Given the description of an element on the screen output the (x, y) to click on. 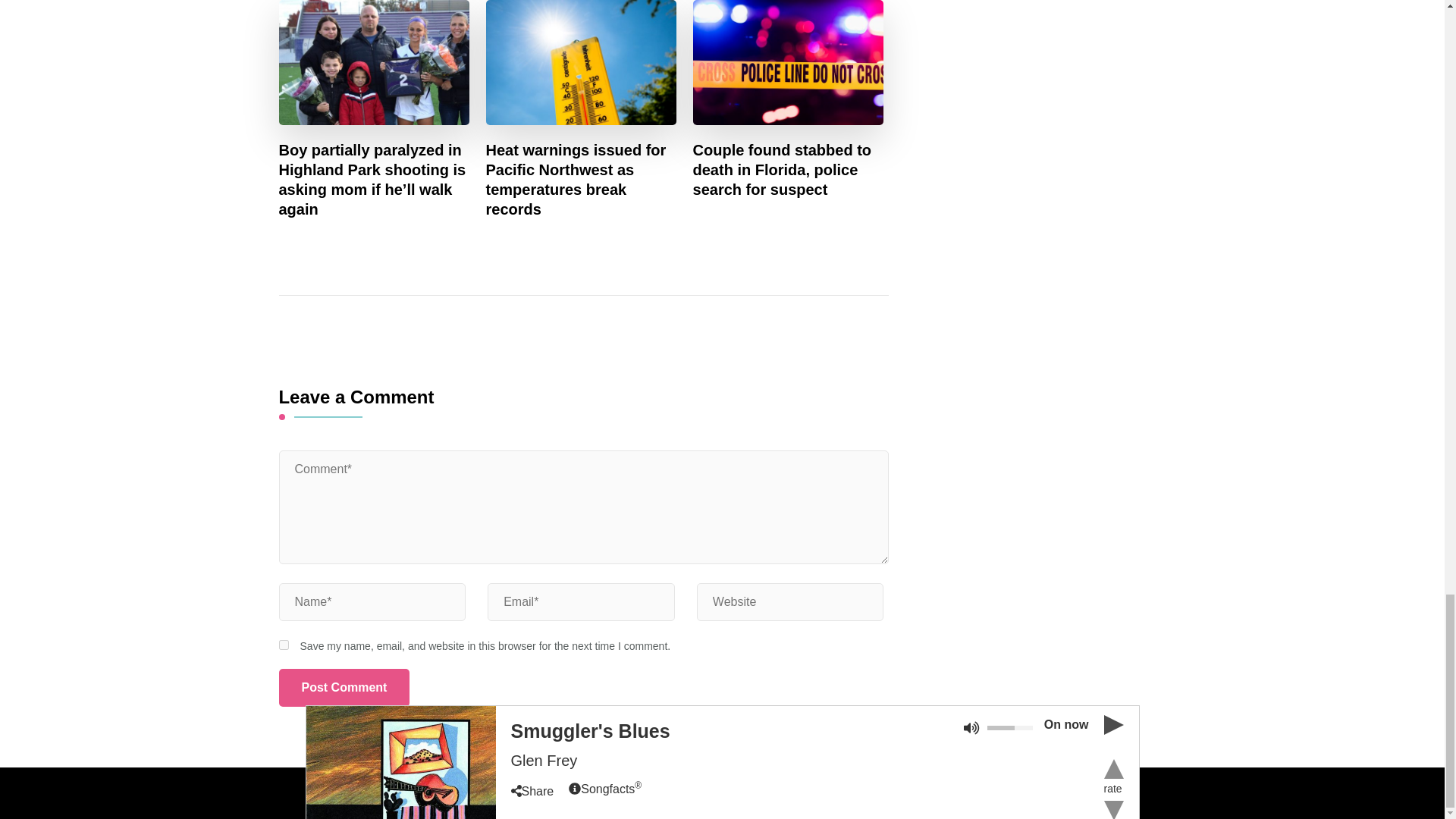
Post Comment (344, 687)
yes (283, 644)
Post Comment (344, 687)
